Given the description of an element on the screen output the (x, y) to click on. 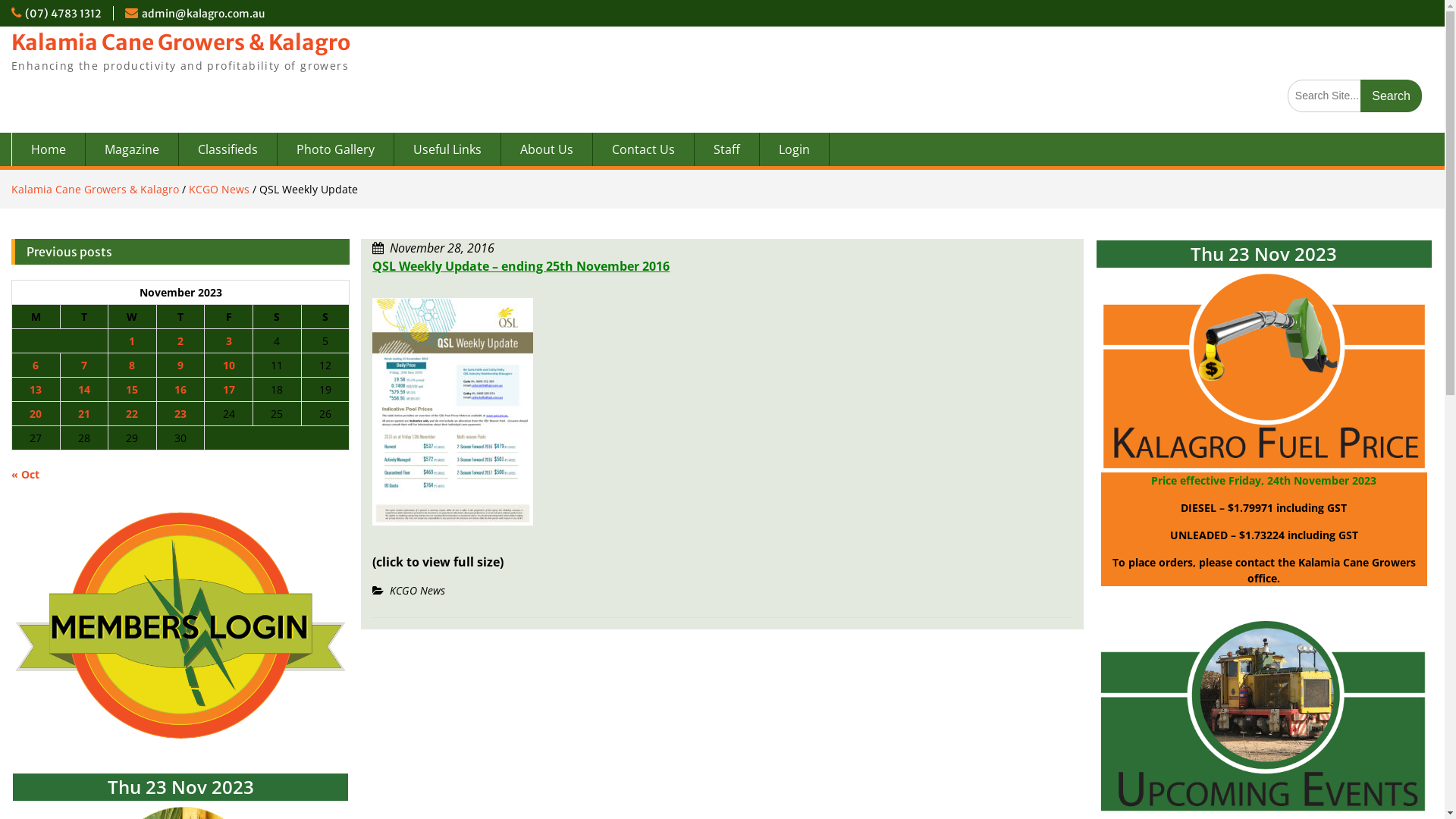
9 Element type: text (180, 364)
2 Element type: text (180, 340)
6 Element type: text (35, 364)
25112016-QSL-IRMUpdate Element type: hover (452, 532)
Magazine Element type: text (131, 149)
17 Element type: text (228, 389)
16 Element type: text (180, 389)
Useful Links Element type: text (447, 149)
13 Element type: text (35, 389)
Search for: Element type: hover (1354, 95)
Staff Element type: text (726, 149)
KCGO News Element type: text (417, 590)
About Us Element type: text (547, 149)
Search Element type: text (1390, 95)
Classifieds Element type: text (227, 149)
7 Element type: text (84, 364)
Home Element type: text (48, 149)
Contact Us Element type: text (643, 149)
3 Element type: text (228, 340)
Photo Gallery Element type: text (335, 149)
8 Element type: text (131, 364)
Kalamia Cane Growers & Kalagro Element type: text (94, 189)
21 Element type: text (84, 413)
Login Element type: text (794, 149)
15 Element type: text (131, 389)
admin@kalagro.com.au Element type: text (203, 13)
20 Element type: text (35, 413)
23 Element type: text (180, 413)
(07) 4783 1312 Element type: text (63, 13)
November 28, 2016 Element type: text (441, 247)
14 Element type: text (84, 389)
22 Element type: text (131, 413)
10 Element type: text (228, 364)
1 Element type: text (131, 340)
KCGO News Element type: text (218, 189)
Kalamia Cane Growers & Kalagro Element type: text (180, 42)
